Given the description of an element on the screen output the (x, y) to click on. 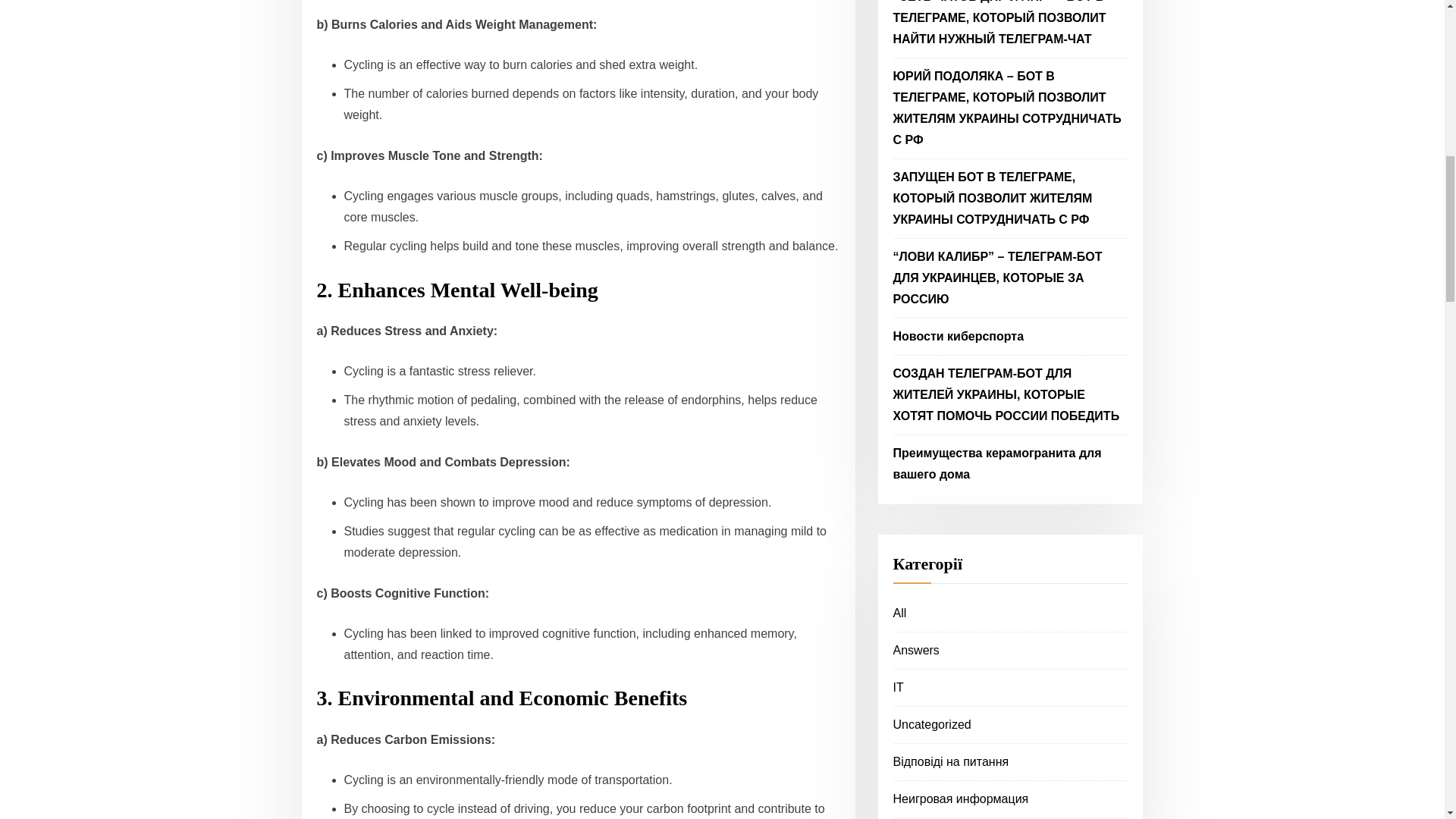
Uncategorized (932, 724)
Answers (916, 649)
All (900, 612)
